Given the description of an element on the screen output the (x, y) to click on. 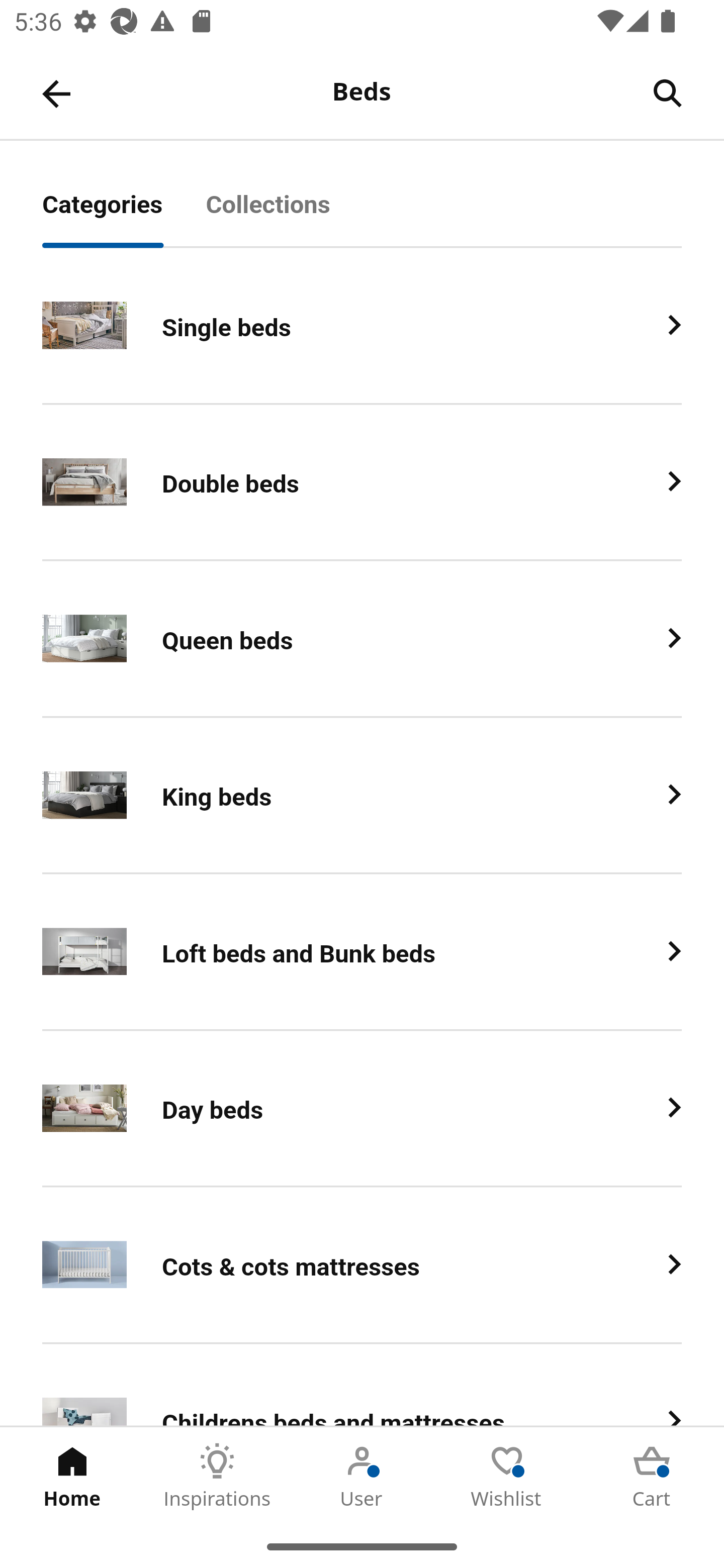
Categories
Tab 1 of 2 (123, 215)
Collections
Tab 2 of 2 (289, 215)
Single beds (361, 325)
Double beds (361, 482)
Queen beds (361, 639)
King beds (361, 796)
Loft beds and Bunk beds (361, 952)
Day beds (361, 1108)
Cots & cots mattresses (361, 1264)
Home
Tab 1 of 5 (72, 1476)
Inspirations
Tab 2 of 5 (216, 1476)
User
Tab 3 of 5 (361, 1476)
Wishlist
Tab 4 of 5 (506, 1476)
Cart
Tab 5 of 5 (651, 1476)
